Given the description of an element on the screen output the (x, y) to click on. 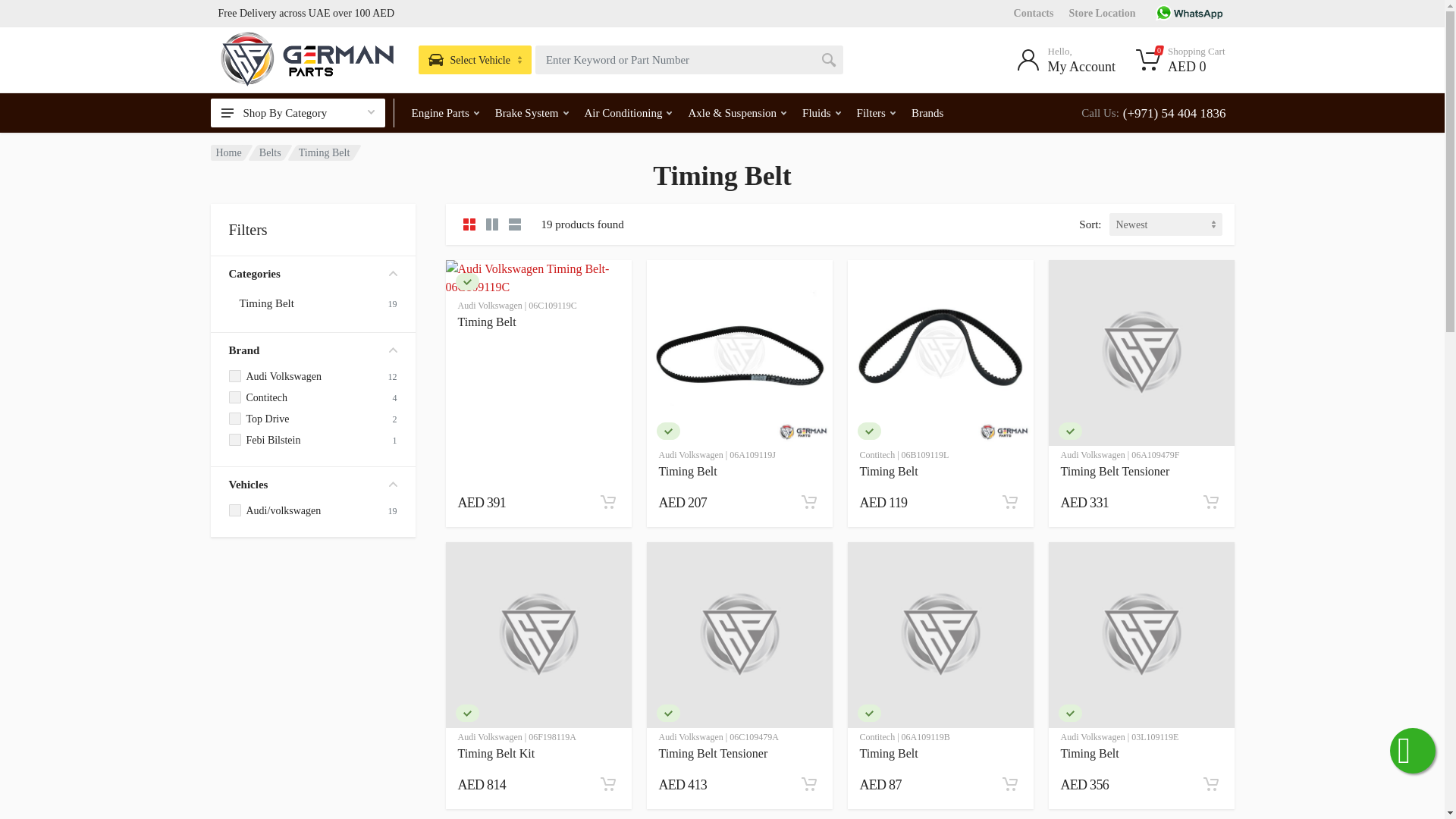
06B109119L (868, 430)
Shop By Category (298, 112)
06A109119B (868, 712)
06C109479A (667, 712)
06A109119J (667, 430)
03L109119E (1069, 712)
06A109479F (1069, 430)
Contacts (1033, 12)
06C109119C (466, 281)
06F198119A (466, 712)
Store Location (1101, 12)
